Given the description of an element on the screen output the (x, y) to click on. 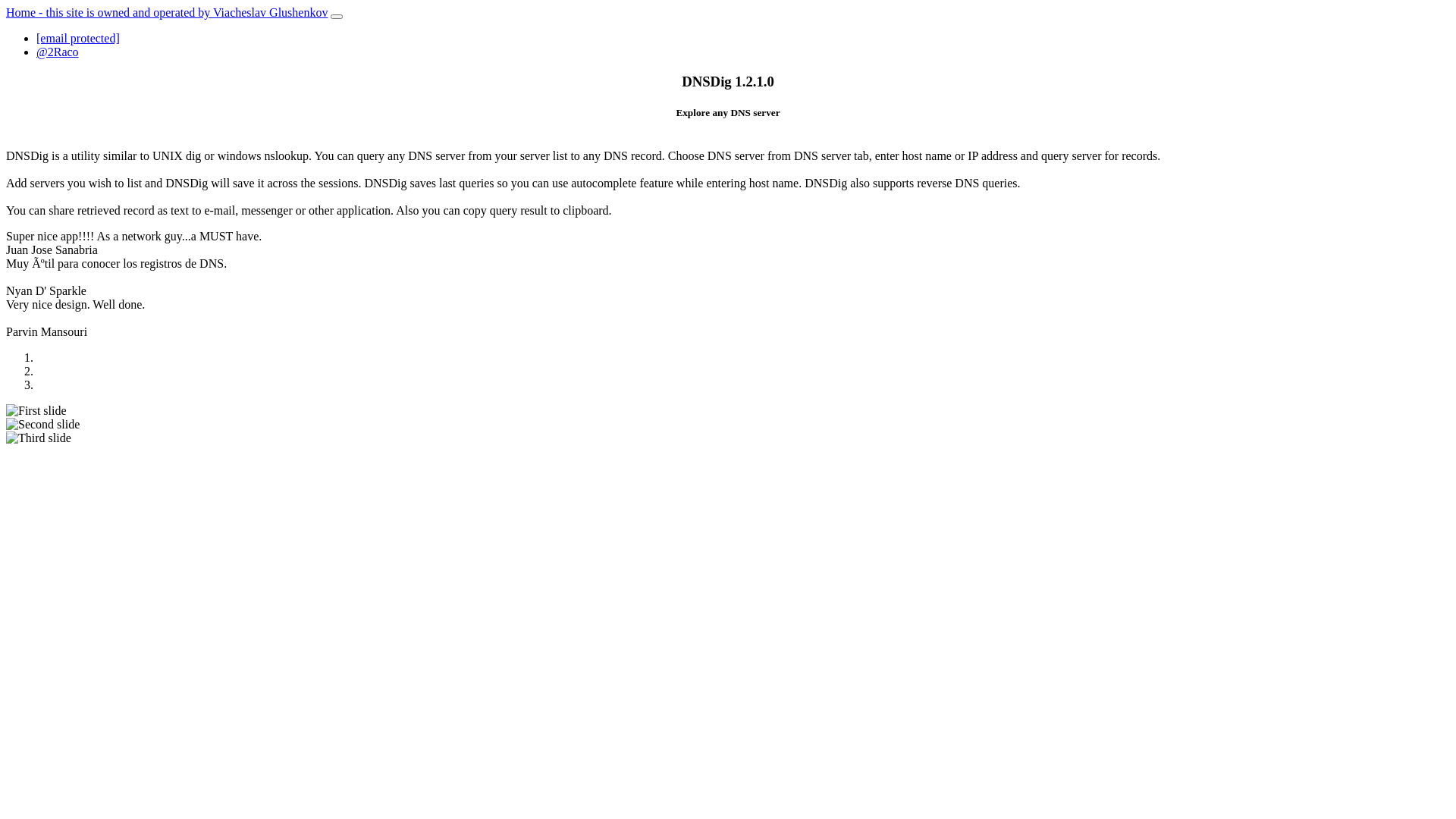
@2Raco Element type: text (57, 51)
[email protected] Element type: text (77, 37)
